Given the description of an element on the screen output the (x, y) to click on. 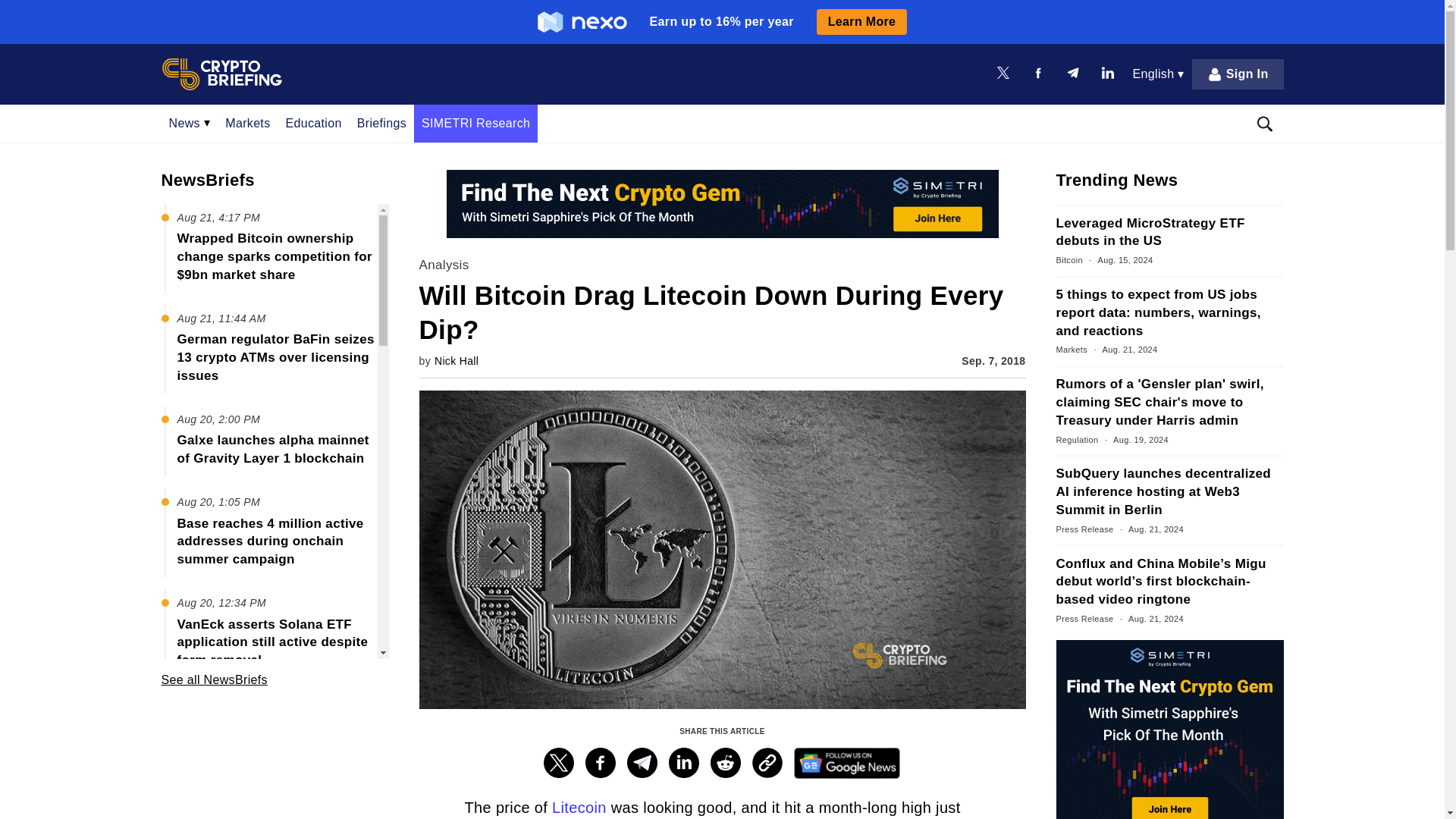
Learn More (861, 22)
Sign In (1238, 73)
Sign In (1238, 73)
News (188, 123)
